Given the description of an element on the screen output the (x, y) to click on. 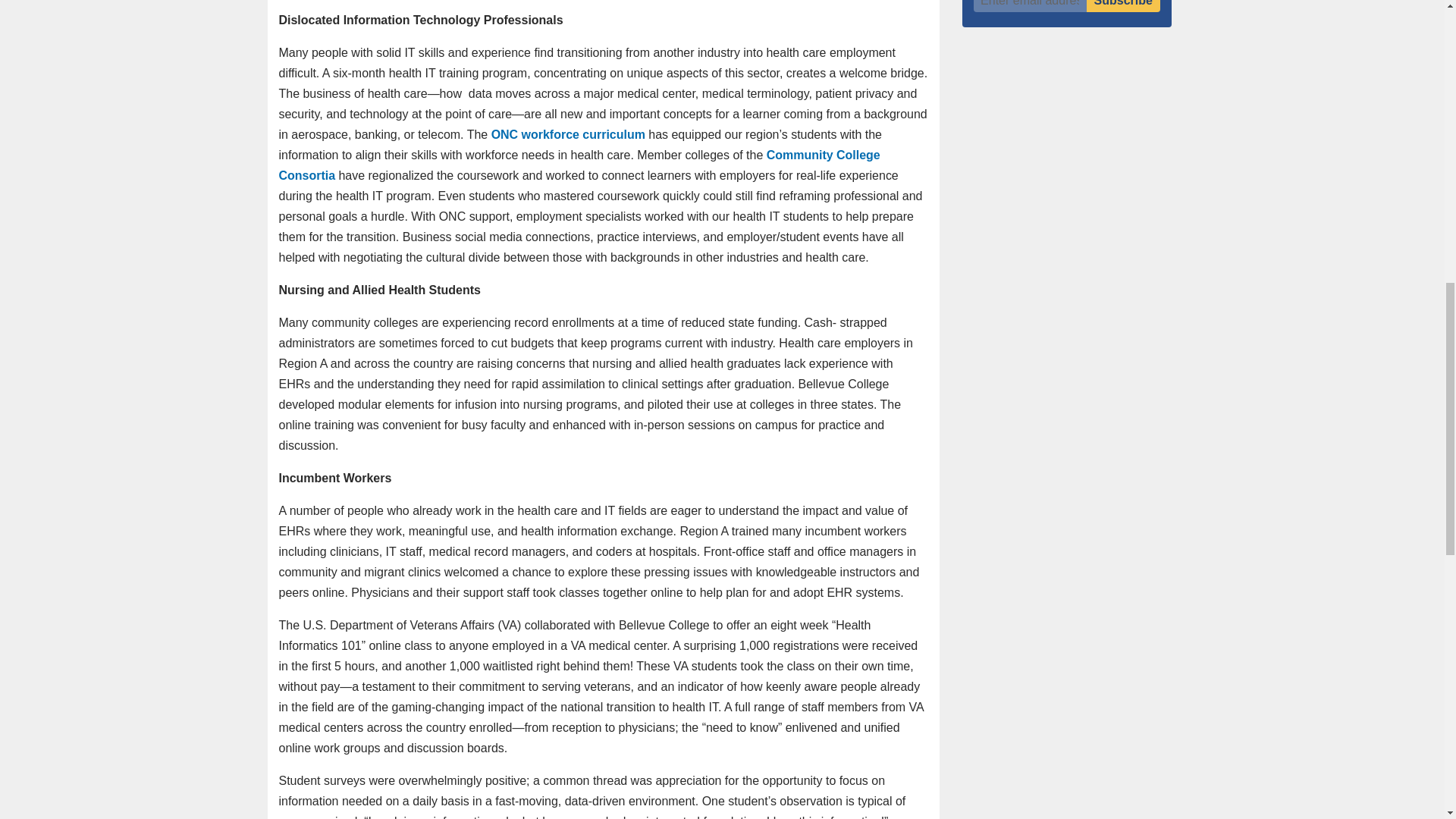
Community College Consortia (579, 164)
Subscribe (1123, 6)
ONC workforce curriculum (568, 133)
